Given the description of an element on the screen output the (x, y) to click on. 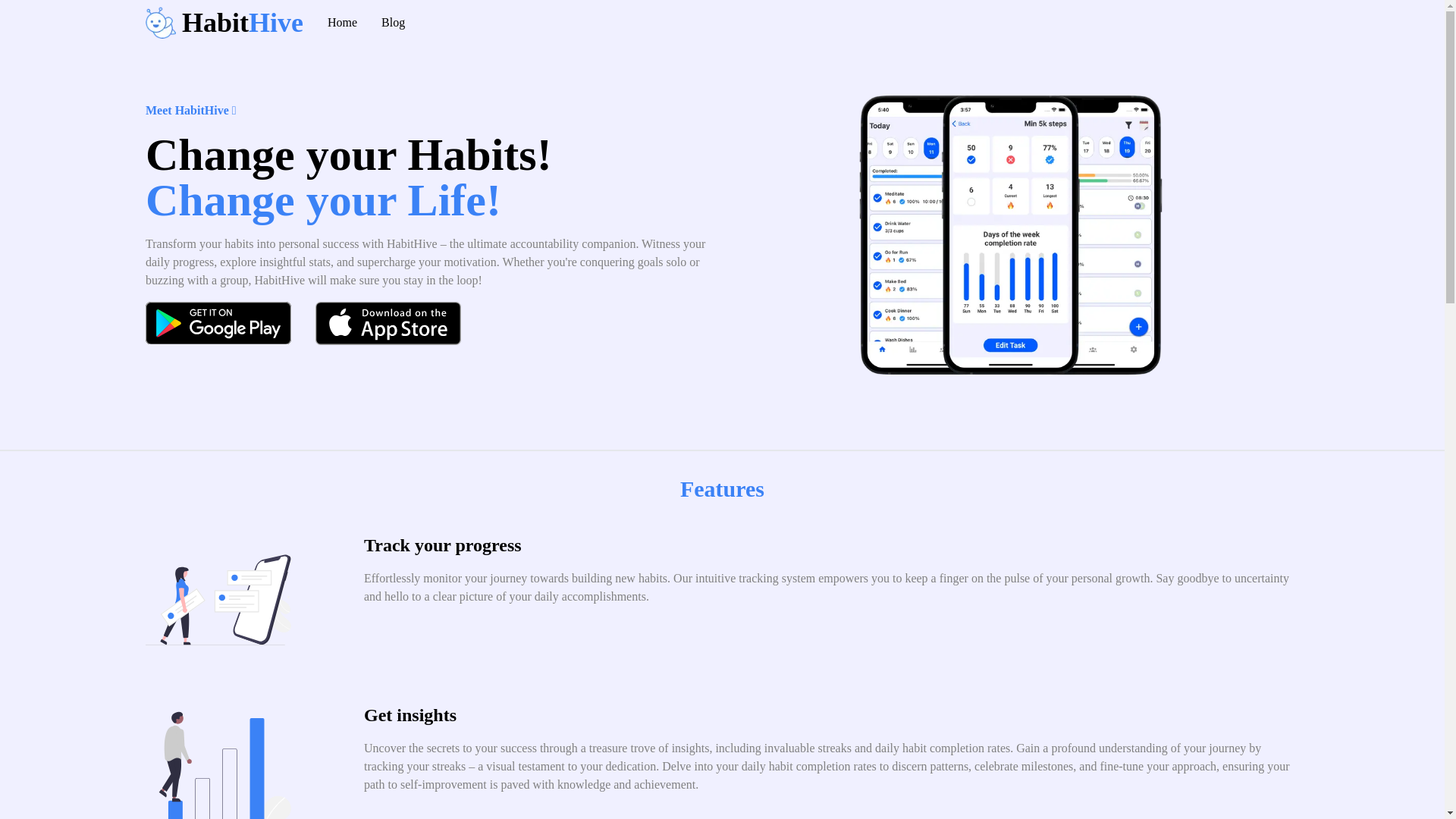
Blog (250, 21)
